Given the description of an element on the screen output the (x, y) to click on. 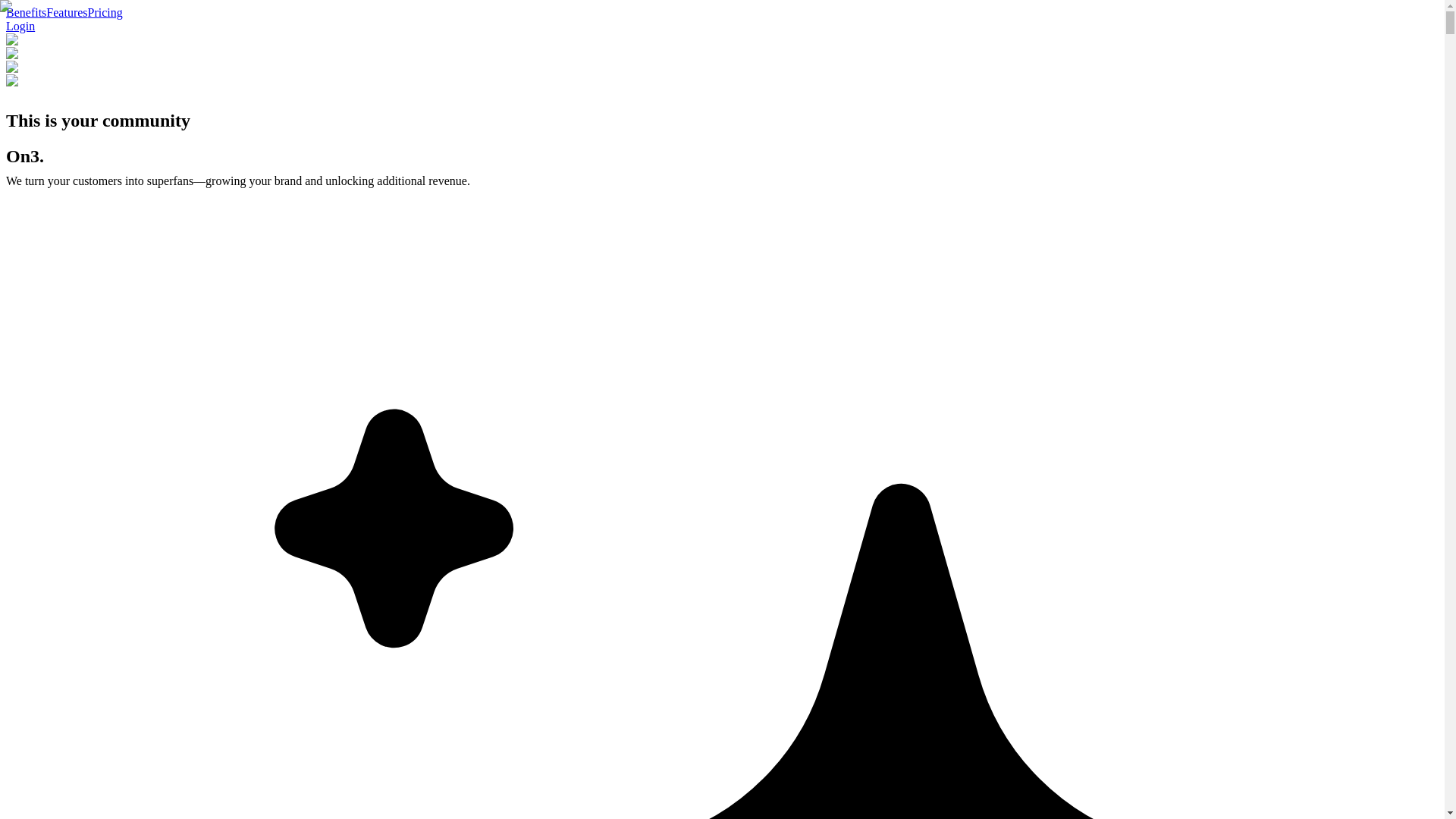
Pricing (104, 11)
Benefits (25, 11)
Features (66, 11)
Login (19, 25)
